Given the description of an element on the screen output the (x, y) to click on. 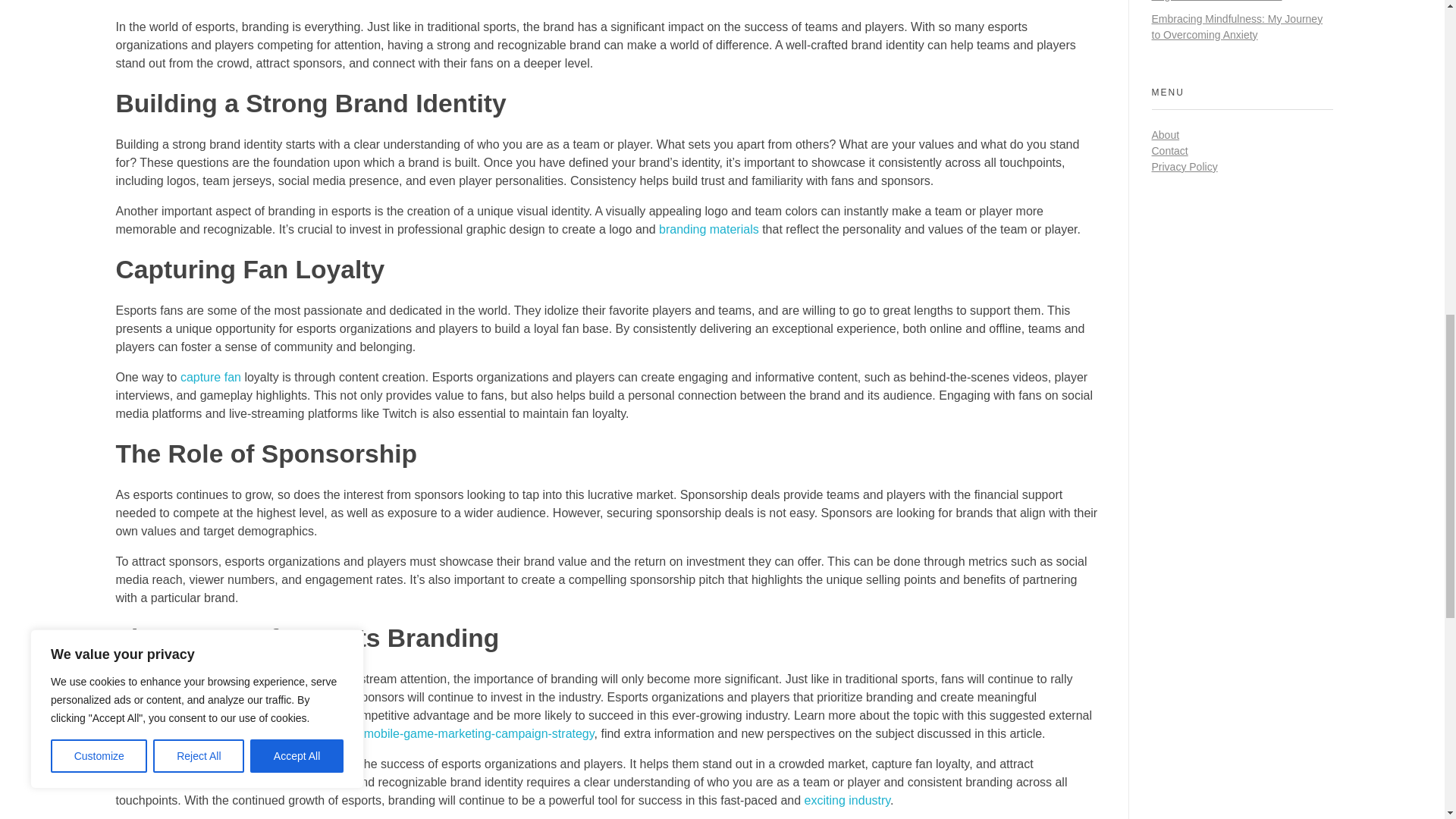
branding materials (708, 228)
exciting industry (848, 799)
capture fan (210, 377)
